Given the description of an element on the screen output the (x, y) to click on. 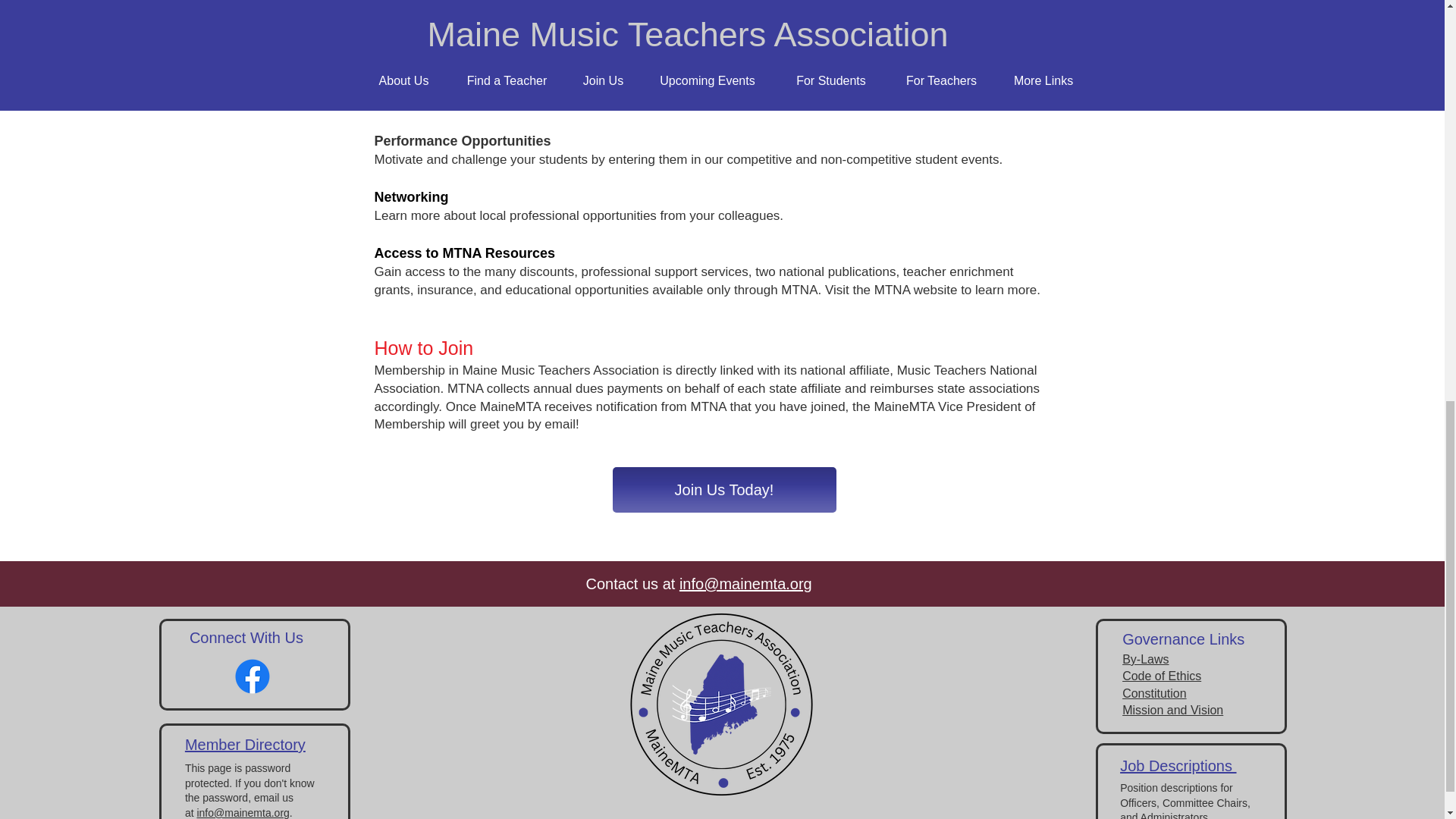
Mission and Vision (1172, 709)
By-Laws (1145, 658)
Member Directory (244, 744)
Join Us Today! (723, 489)
Constitution (1154, 693)
Job Descriptions  (1177, 765)
Logo on With White Background.png (720, 704)
MTNA website (916, 289)
Code of Ethics (1161, 675)
